Given the description of an element on the screen output the (x, y) to click on. 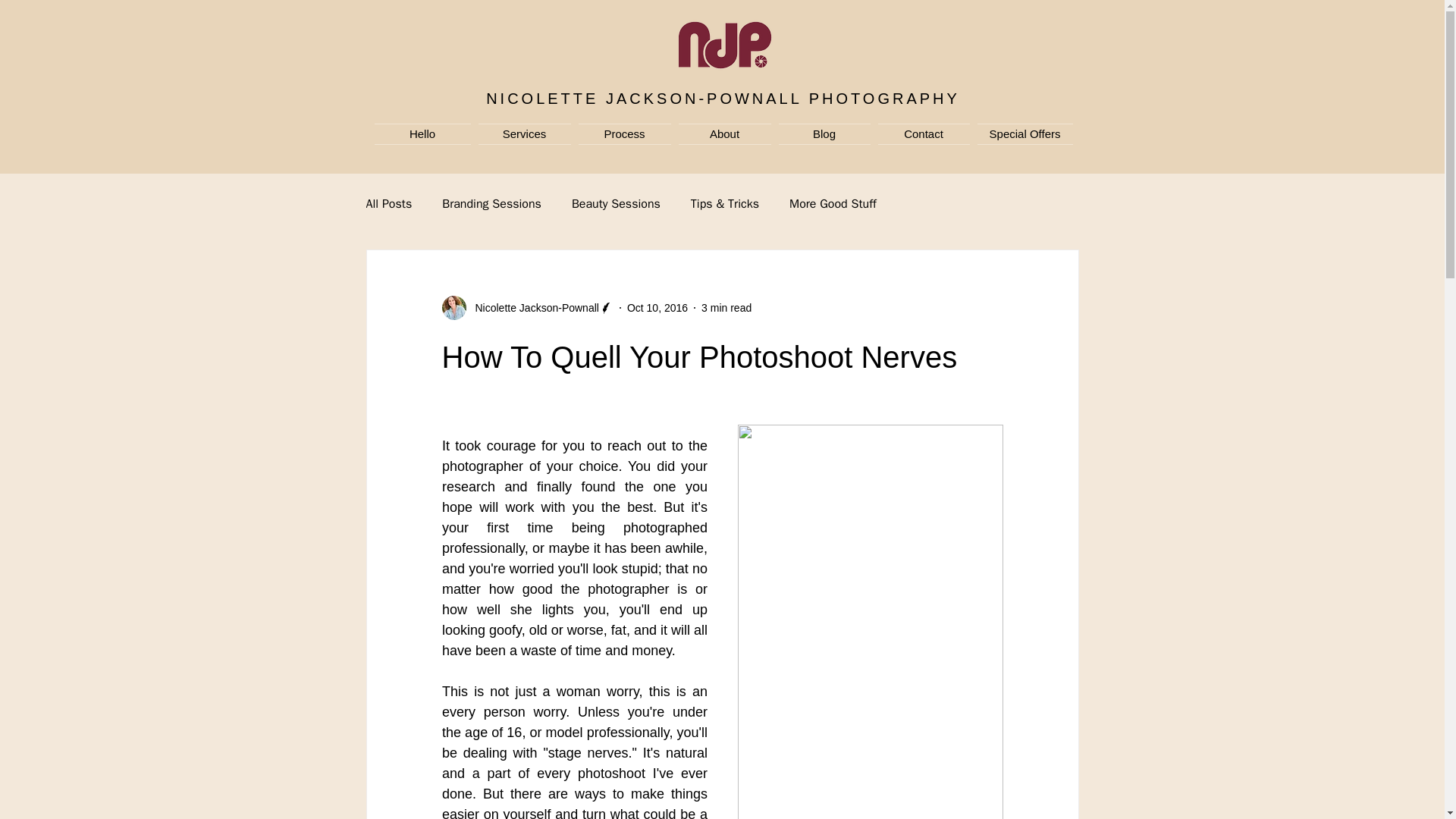
Nicolette Jackson-Pownall (526, 307)
Blog (824, 133)
All Posts (388, 203)
3 min read (726, 307)
Hello (424, 133)
More Good Stuff (832, 203)
Process (625, 133)
Oct 10, 2016 (657, 307)
Nicolette Jackson-Pownall (531, 308)
Contact (922, 133)
Branding Sessions (491, 203)
Beauty Sessions (616, 203)
About (724, 133)
